Given the description of an element on the screen output the (x, y) to click on. 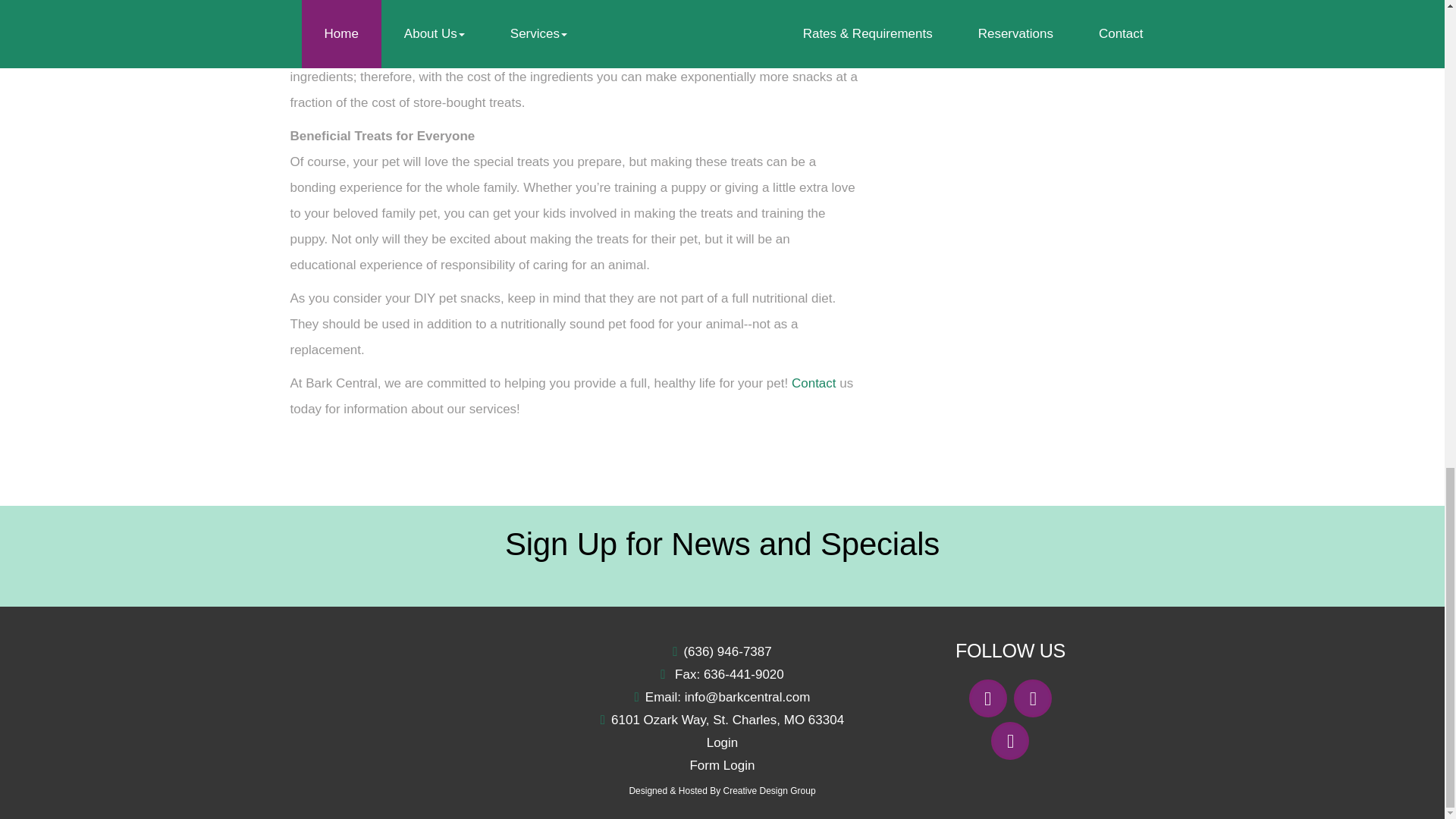
Login (722, 742)
Contact (813, 382)
Creative Design Group (769, 790)
Form Login (721, 765)
